Given the description of an element on the screen output the (x, y) to click on. 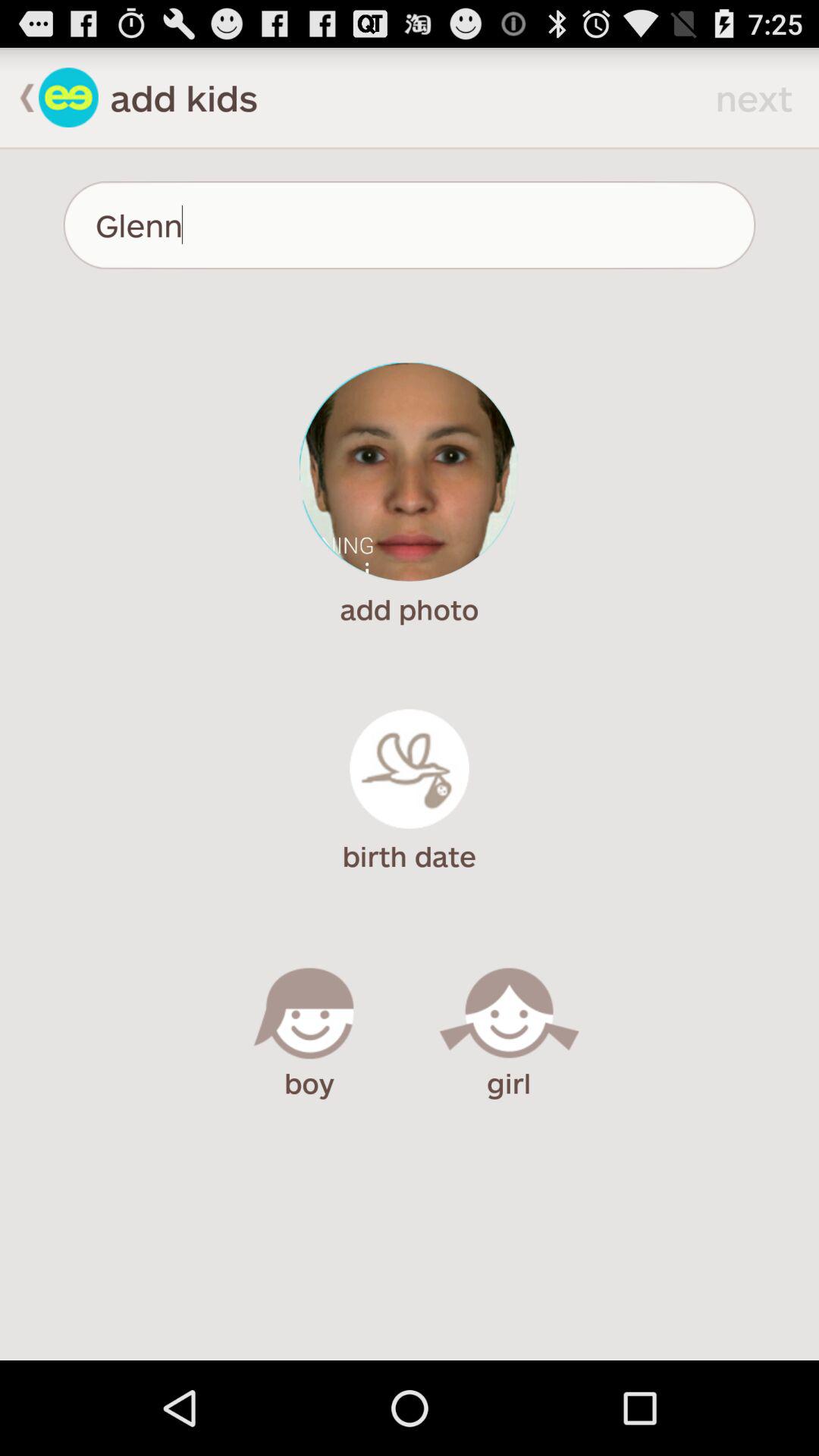
go back (68, 97)
